Given the description of an element on the screen output the (x, y) to click on. 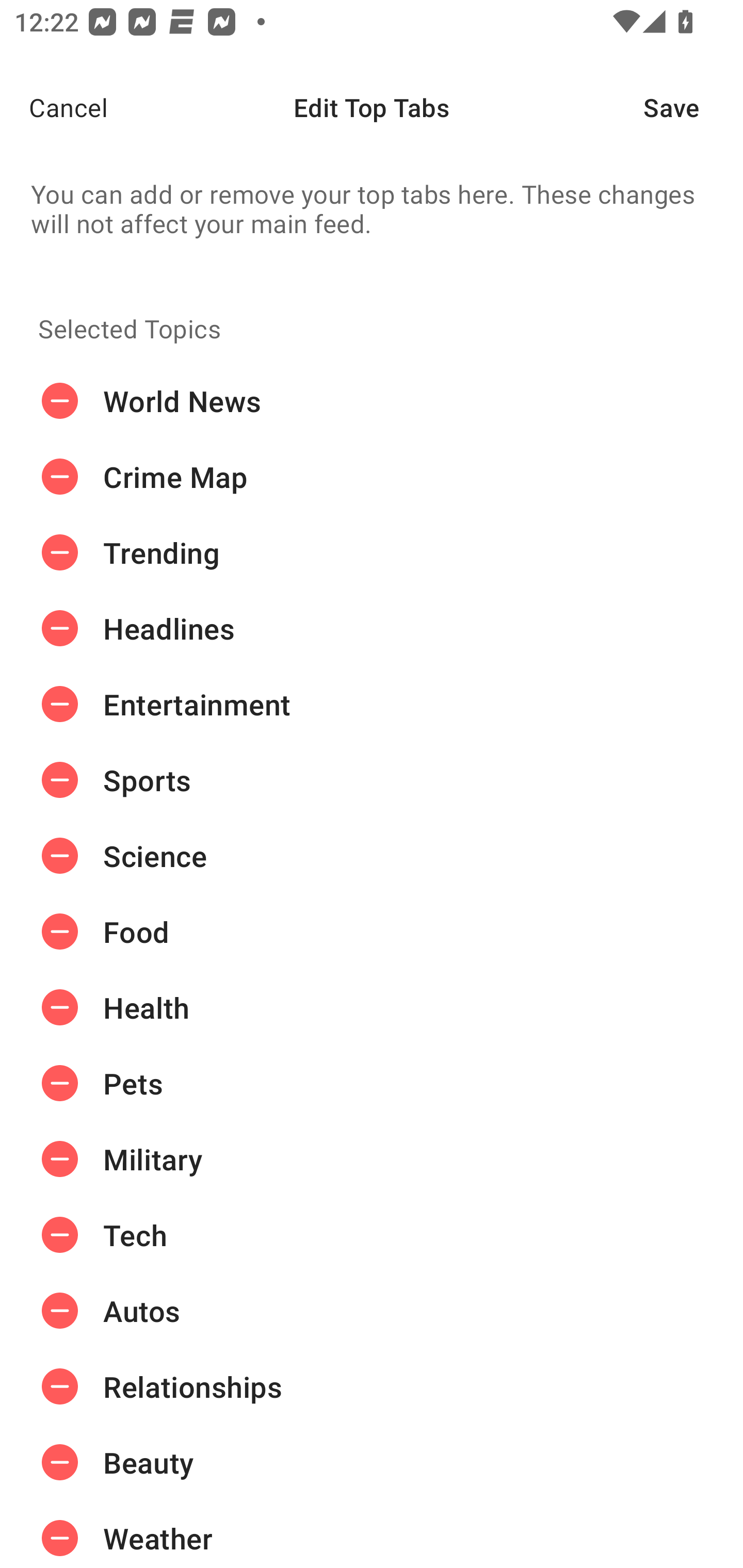
Cancel (53, 106)
Save (693, 106)
World News (371, 401)
Crime Map (371, 476)
Trending (371, 552)
Headlines (371, 628)
Entertainment (371, 703)
Sports (371, 779)
Science (371, 855)
Food (371, 931)
Health (371, 1007)
Pets (371, 1083)
Military (371, 1158)
Tech (371, 1234)
Autos (371, 1310)
Relationships (371, 1386)
Beauty (371, 1462)
Weather (371, 1534)
